Given the description of an element on the screen output the (x, y) to click on. 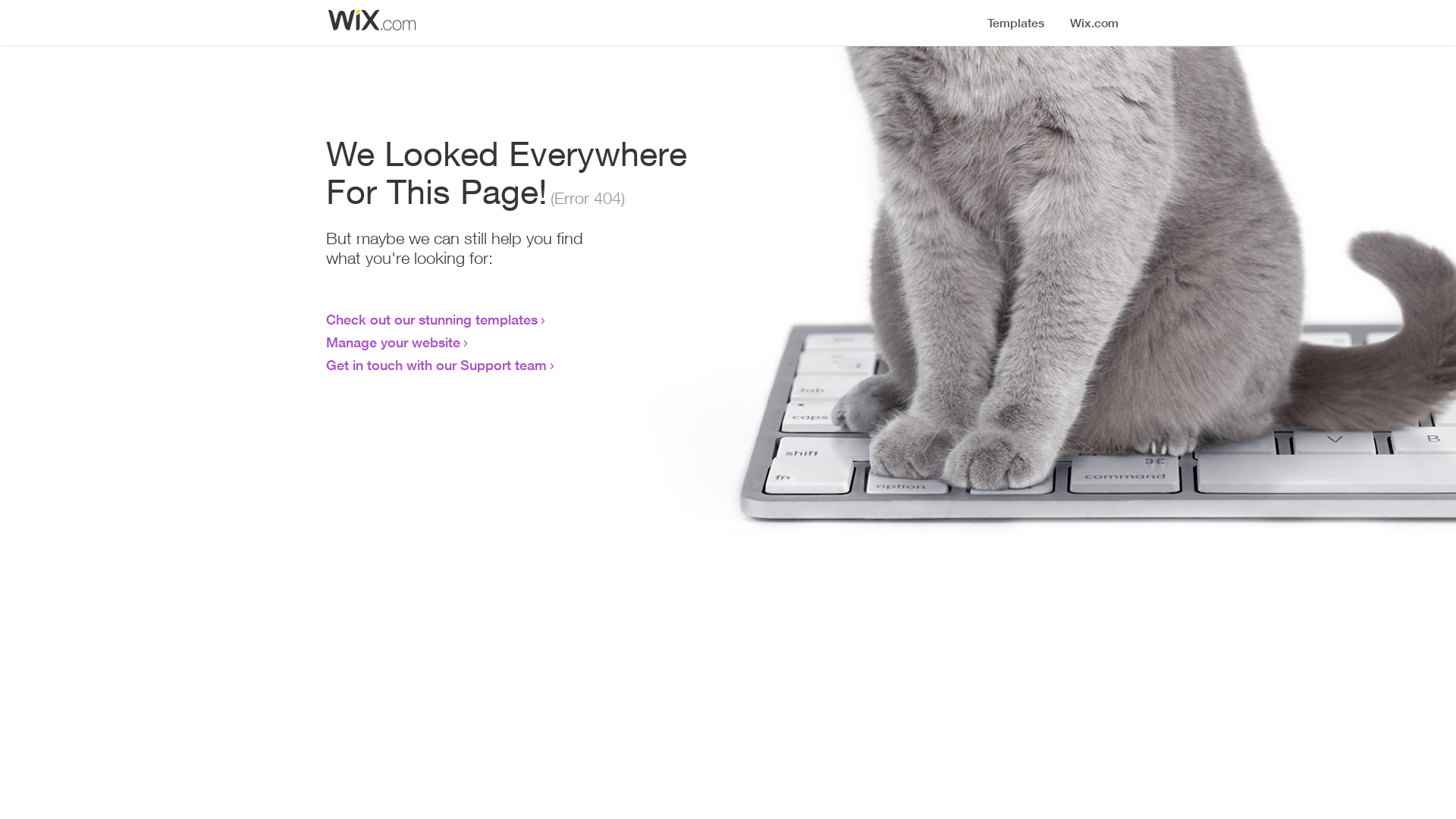
Get in touch with our Support team Element type: text (436, 364)
Check out our stunning templates Element type: text (431, 318)
Manage your website Element type: text (393, 341)
